Given the description of an element on the screen output the (x, y) to click on. 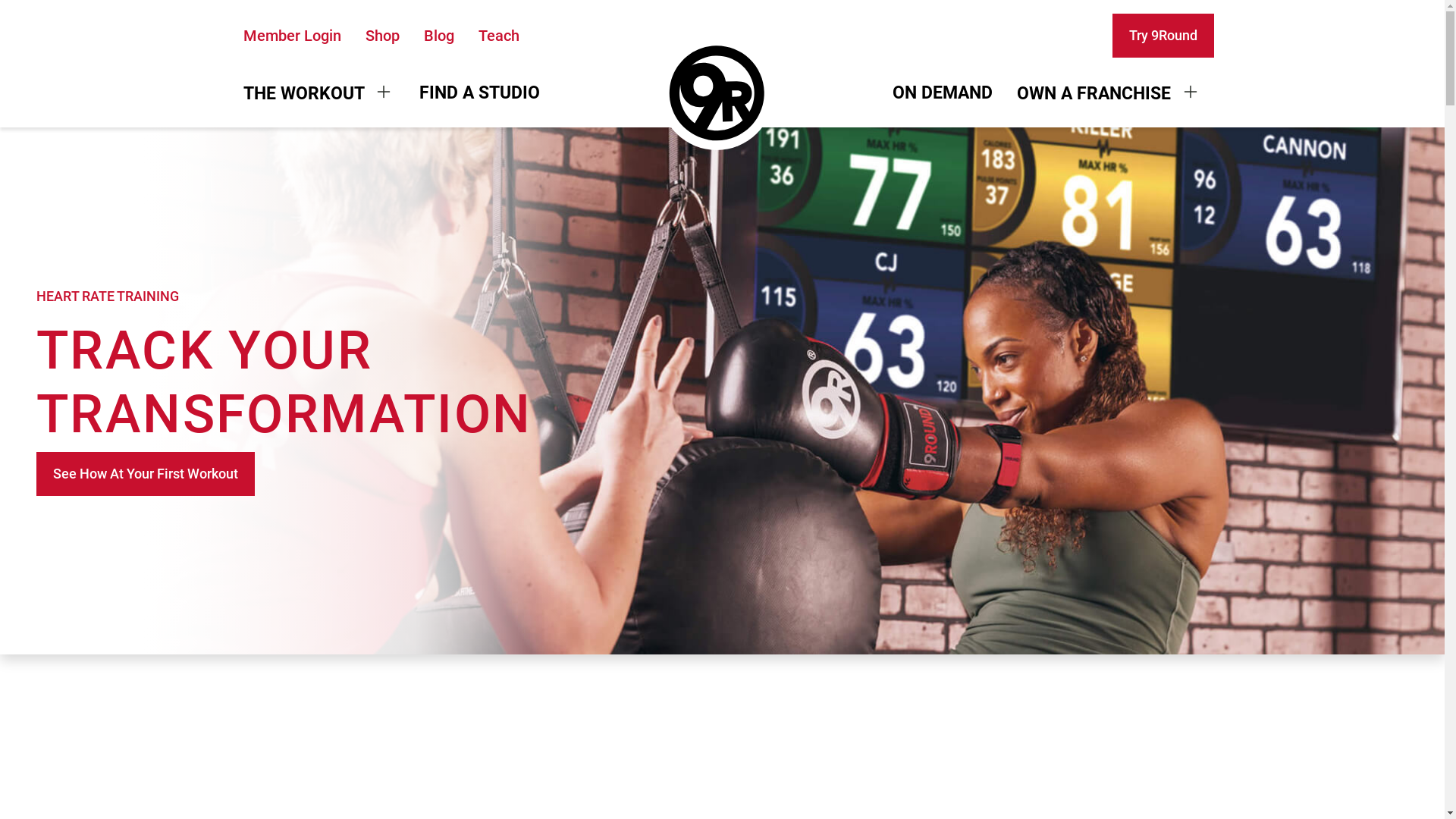
Shop Element type: text (382, 35)
Teach Element type: text (497, 35)
Blog Element type: text (438, 35)
Member Login Element type: text (291, 35)
THE WORKOUT Element type: text (318, 93)
FIND A STUDIO Element type: text (479, 93)
Try 9Round Element type: text (1162, 35)
OWN A FRANCHISE Element type: text (1108, 93)
ON DEMAND Element type: text (942, 93)
See How At Your First Workout Element type: text (145, 473)
